Given the description of an element on the screen output the (x, y) to click on. 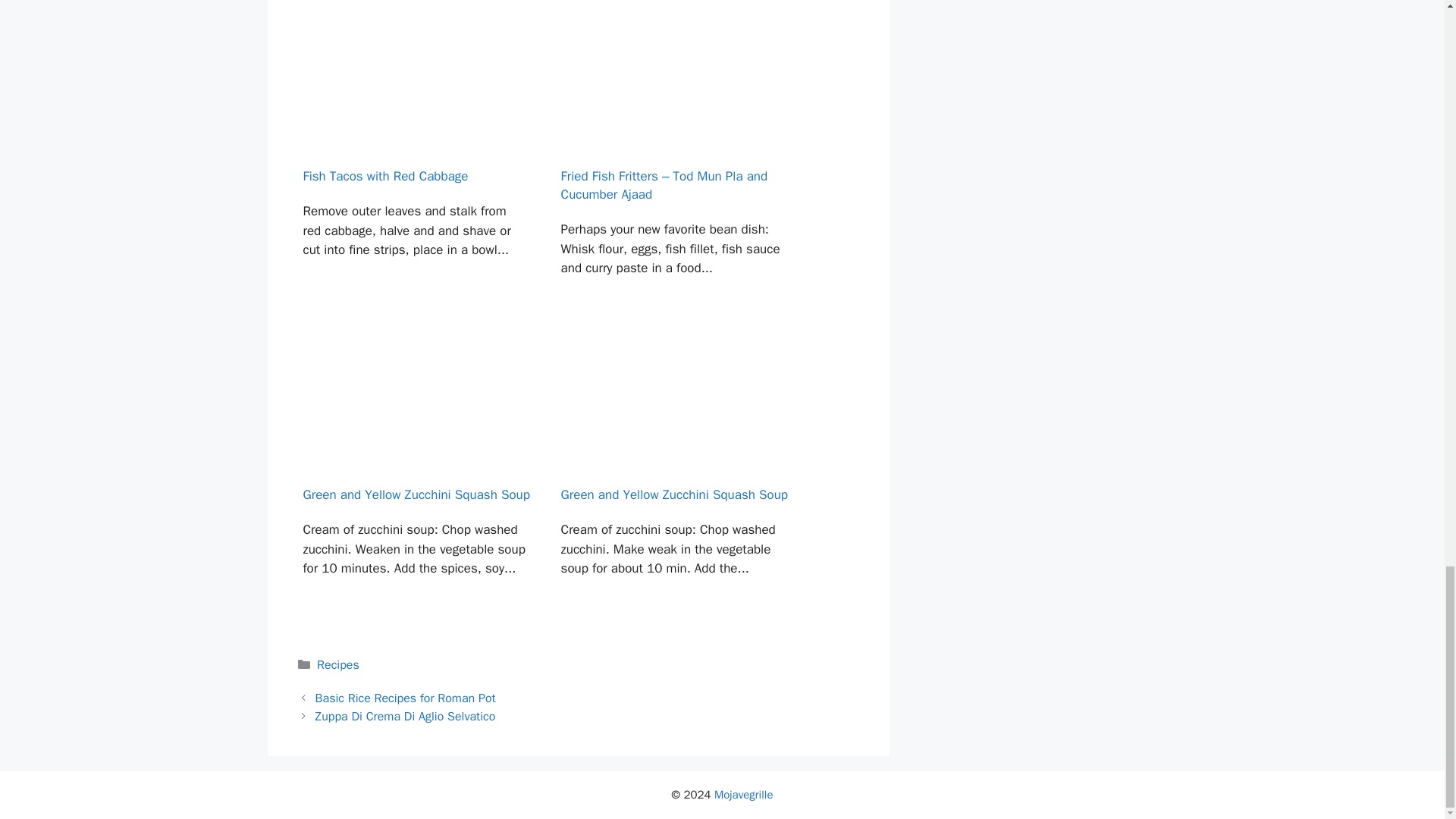
Recipes (338, 664)
Zuppa Di Crema Di Aglio Selvatico (405, 716)
Basic Rice Recipes for Roman Pot (405, 698)
